Given the description of an element on the screen output the (x, y) to click on. 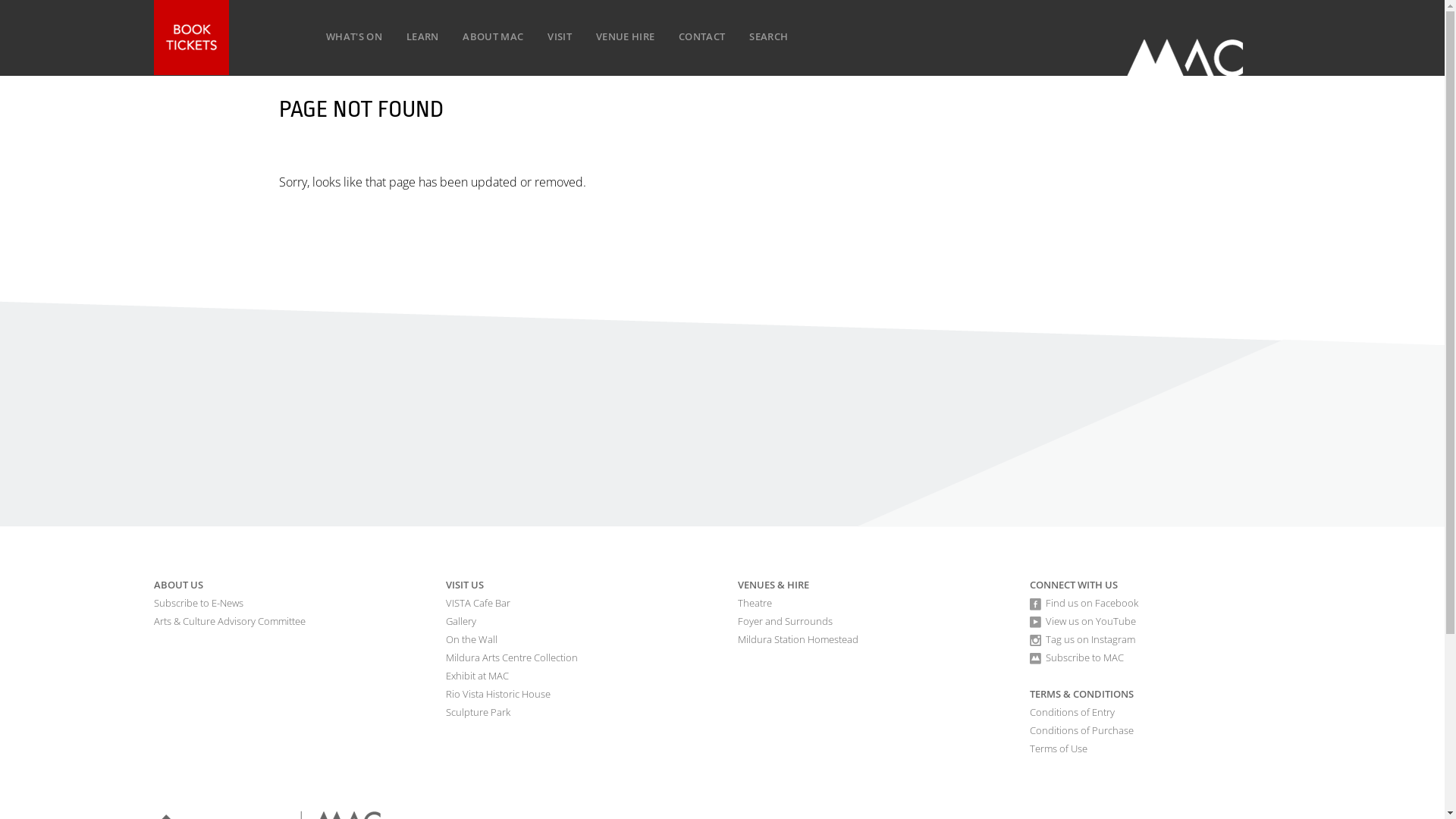
Exhibit at MAC Element type: text (476, 675)
VENUES & HIRE Element type: text (772, 584)
WHAT'S ON Element type: text (353, 36)
Mildura Station Homestead Element type: text (797, 639)
Sculpture Park Element type: text (477, 711)
Mildura Arts Centre Collection Element type: text (511, 657)
Find us on Facebook Element type: text (1090, 602)
LEARN Element type: text (422, 36)
Gallery Element type: text (460, 620)
VISIT US Element type: text (464, 584)
Subscribe to MAC Element type: text (1083, 657)
VENUE HIRE Element type: text (625, 36)
Rio Vista Historic House Element type: text (497, 693)
View us on YouTube Element type: text (1089, 620)
Conditions of Purchase Element type: text (1081, 730)
Foyer and Surrounds Element type: text (784, 620)
ABOUT US Element type: text (177, 584)
VISIT Element type: text (559, 36)
Terms of Use Element type: text (1058, 748)
Subscribe to E-News Element type: text (197, 602)
SEARCH Element type: text (769, 36)
Tag us on Instagram Element type: text (1089, 639)
CONTACT Element type: text (701, 36)
VISTA Cafe Bar Element type: text (477, 602)
Arts & Culture Advisory Committee Element type: text (228, 620)
ABOUT MAC Element type: text (493, 36)
Theatre Element type: text (754, 602)
On the Wall Element type: text (471, 639)
Conditions of Entry Element type: text (1071, 711)
